Given the description of an element on the screen output the (x, y) to click on. 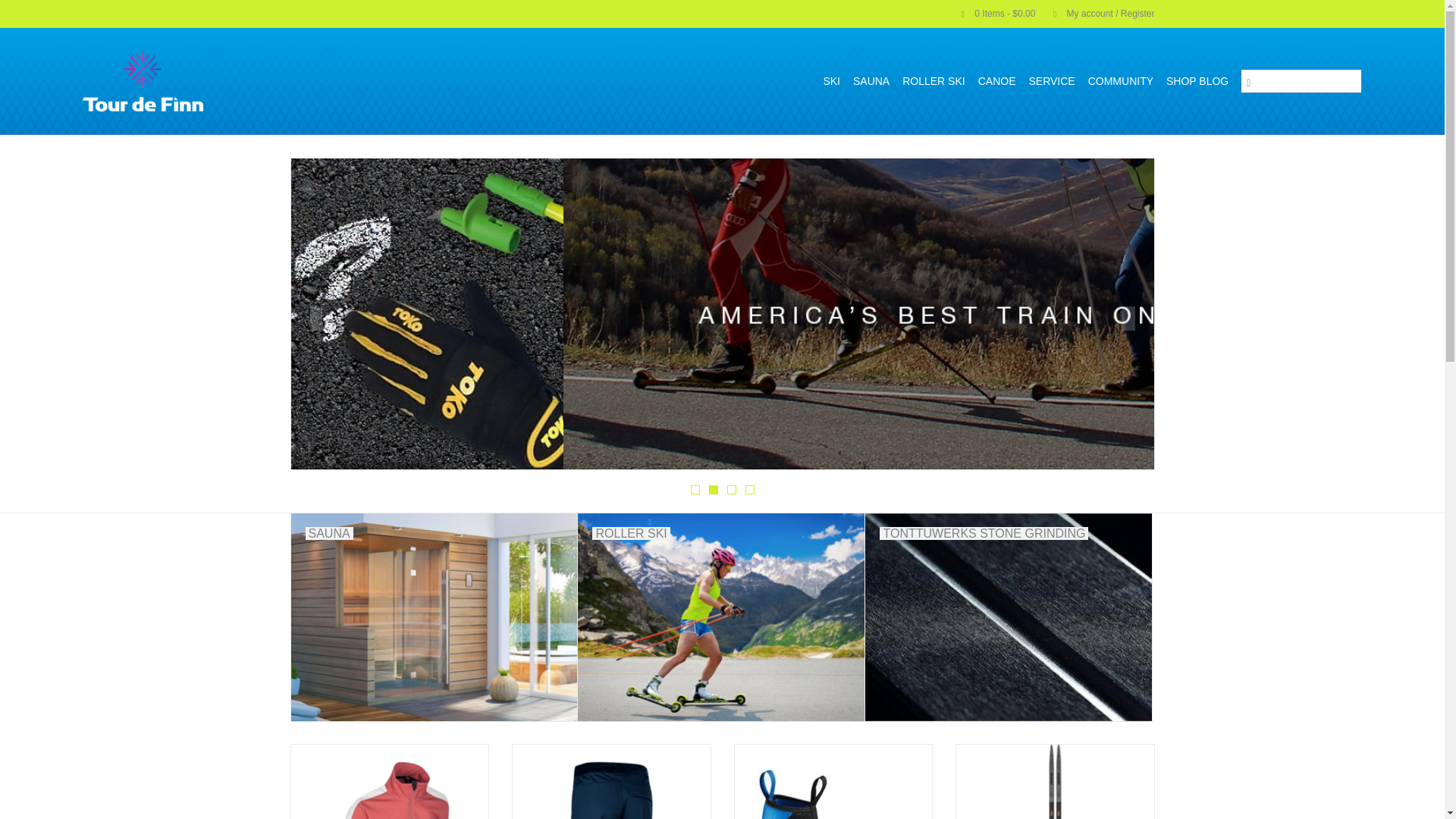
SAUNA (870, 80)
Ski (831, 80)
SKI (831, 80)
My account (1096, 13)
Cart (992, 13)
ROLLER SKI (933, 80)
